Given the description of an element on the screen output the (x, y) to click on. 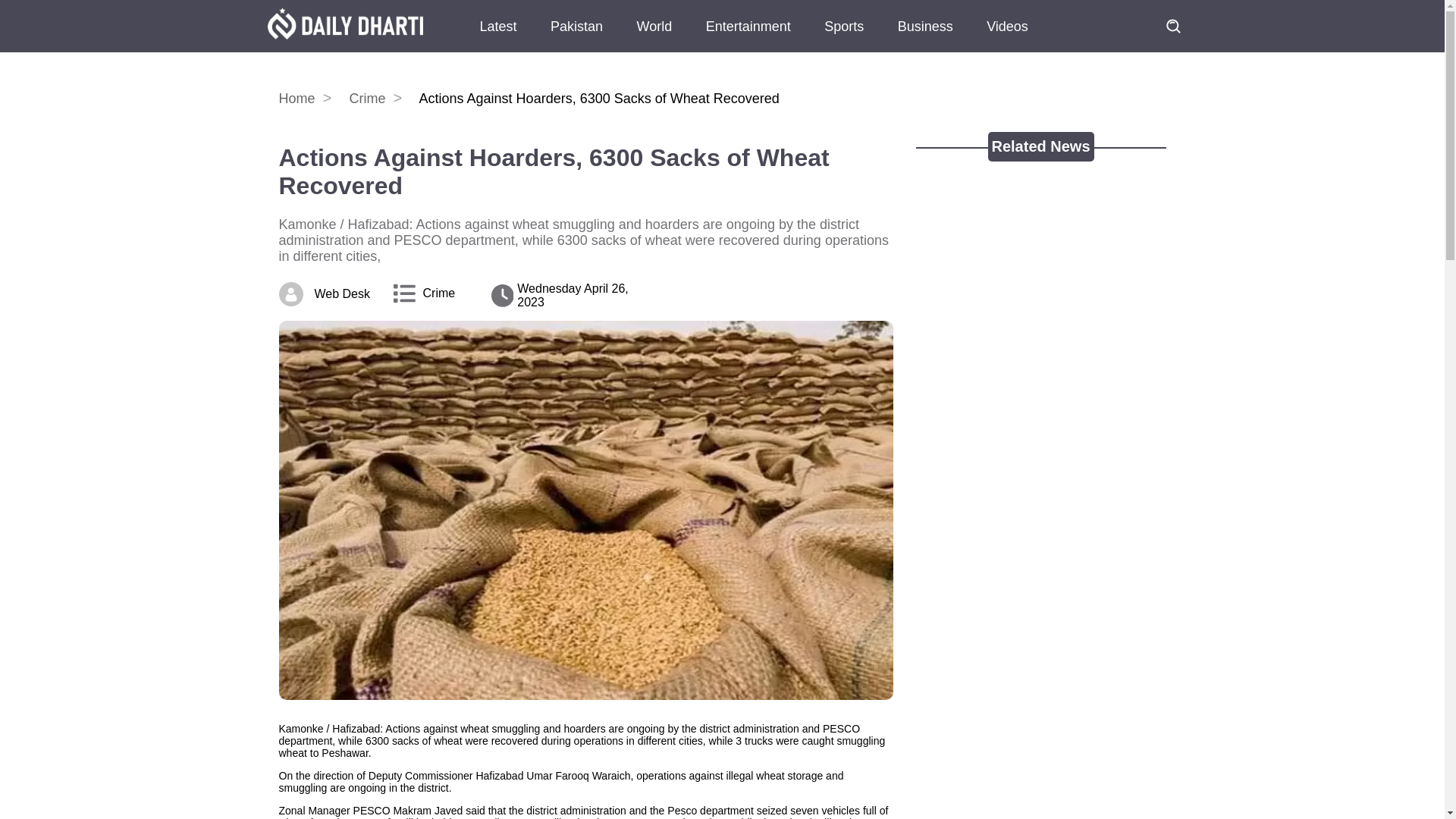
Home (312, 98)
Pakistan (576, 35)
Actions Against Hoarders, 6300 Sacks of Wheat Recovered (586, 171)
Sports (844, 35)
Crime (439, 293)
World (654, 35)
Entertainment (748, 35)
Latest (497, 35)
Business (925, 35)
Videos (1007, 35)
Crime (382, 98)
